Given the description of an element on the screen output the (x, y) to click on. 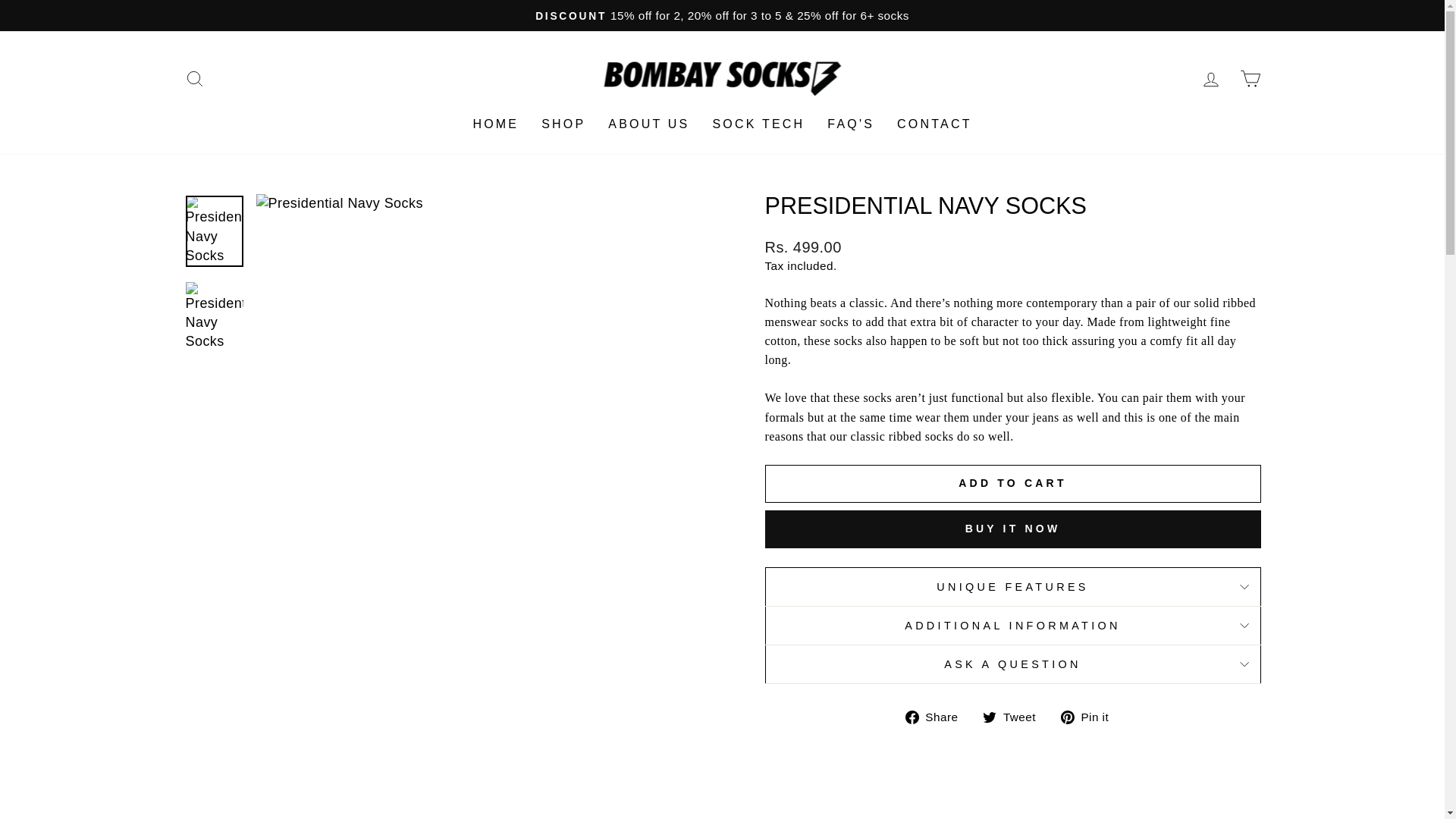
LOG IN (1210, 78)
Tweet on Twitter (1014, 715)
SHOP (562, 123)
Pin on Pinterest (1090, 715)
HOME (495, 123)
Share on Facebook (937, 715)
CART (1249, 78)
SEARCH (194, 78)
